Given the description of an element on the screen output the (x, y) to click on. 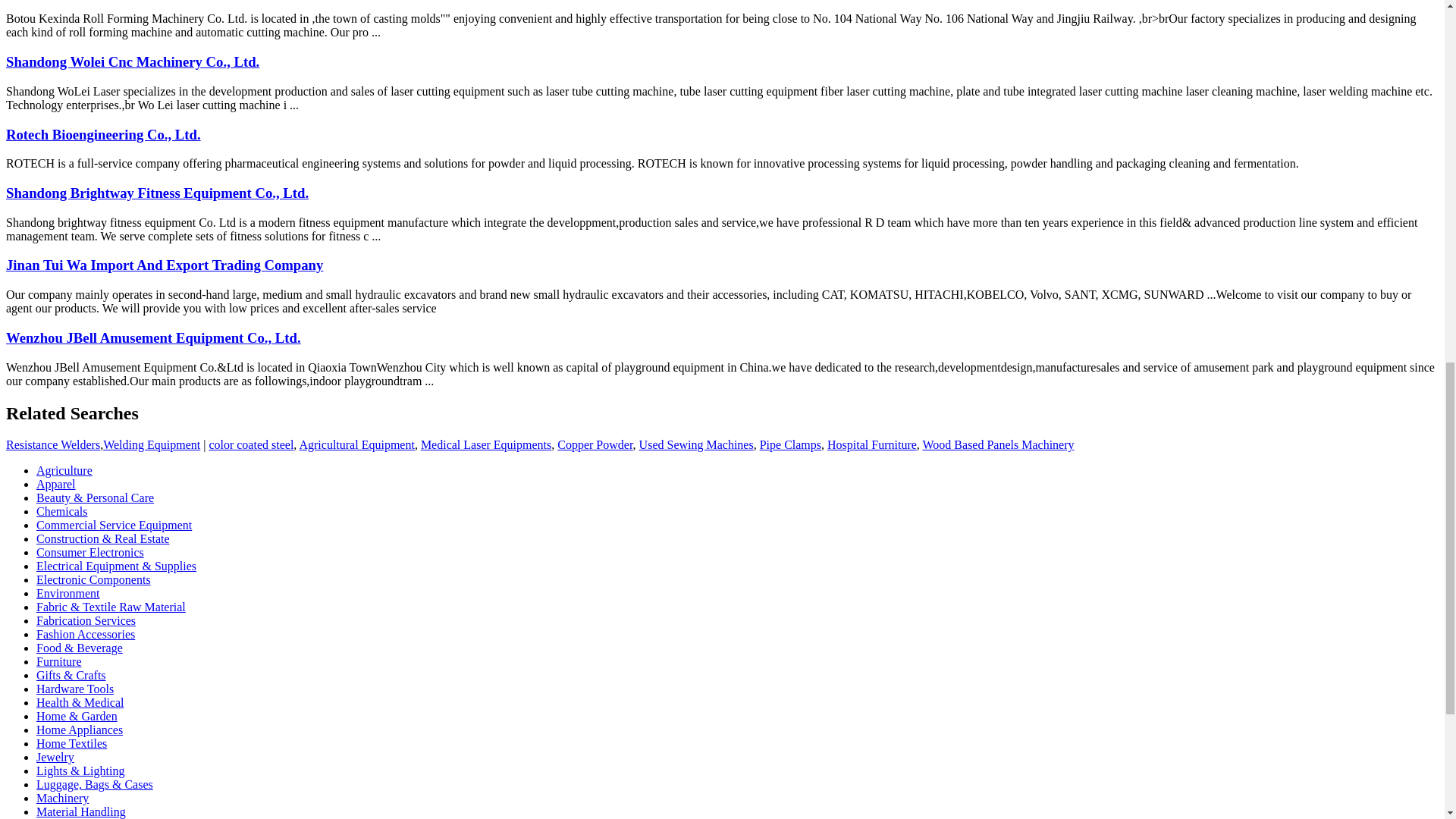
Agriculture (64, 470)
Resistance Welders (52, 444)
Commercial Service Equipment (114, 524)
Wood Based Panels Machinery (998, 444)
Wenzhou JBell Amusement Equipment Co., Ltd. (153, 337)
Chemicals (61, 511)
Consumer Electronics (90, 552)
Electronic Components (93, 579)
Agricultural Equipment (355, 444)
Apparel (55, 483)
Copper Powder (594, 444)
Hospital Furniture (872, 444)
Used Sewing Machines (696, 444)
color coated steel (251, 444)
Shandong Brightway Fitness Equipment Co., Ltd. (156, 192)
